Given the description of an element on the screen output the (x, y) to click on. 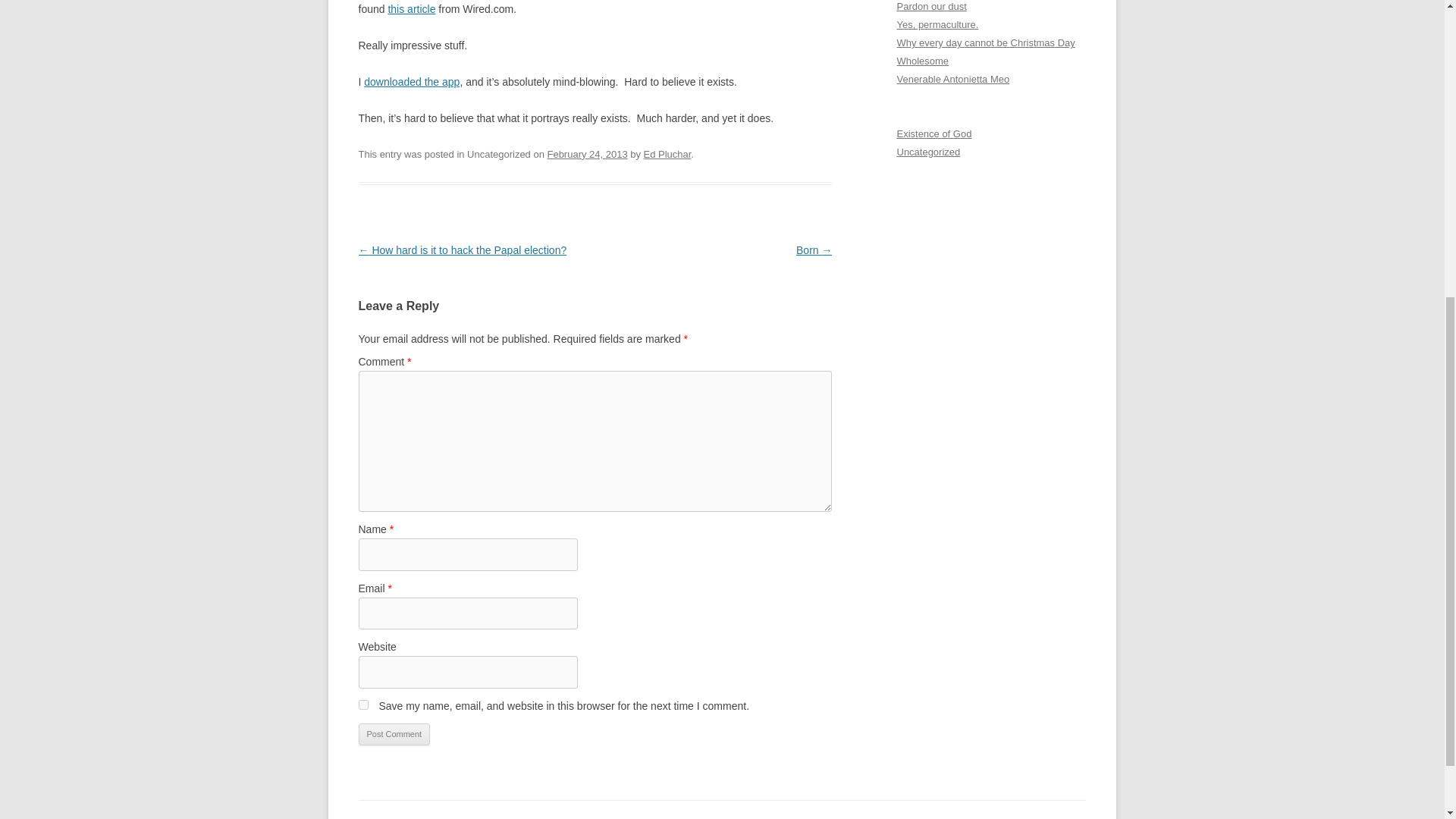
this article (411, 9)
Existence of God (933, 133)
Ed Pluchar (667, 153)
View all posts by Ed Pluchar (667, 153)
Why every day cannot be Christmas Day (985, 42)
February 24, 2013 (587, 153)
Uncategorized (927, 152)
Venerable Antonietta Meo (952, 79)
Post Comment (393, 734)
10:17 pm (587, 153)
Pardon our dust (931, 6)
Yes, permaculture. (937, 24)
downloaded the app (412, 81)
Post Comment (393, 734)
yes (363, 705)
